Given the description of an element on the screen output the (x, y) to click on. 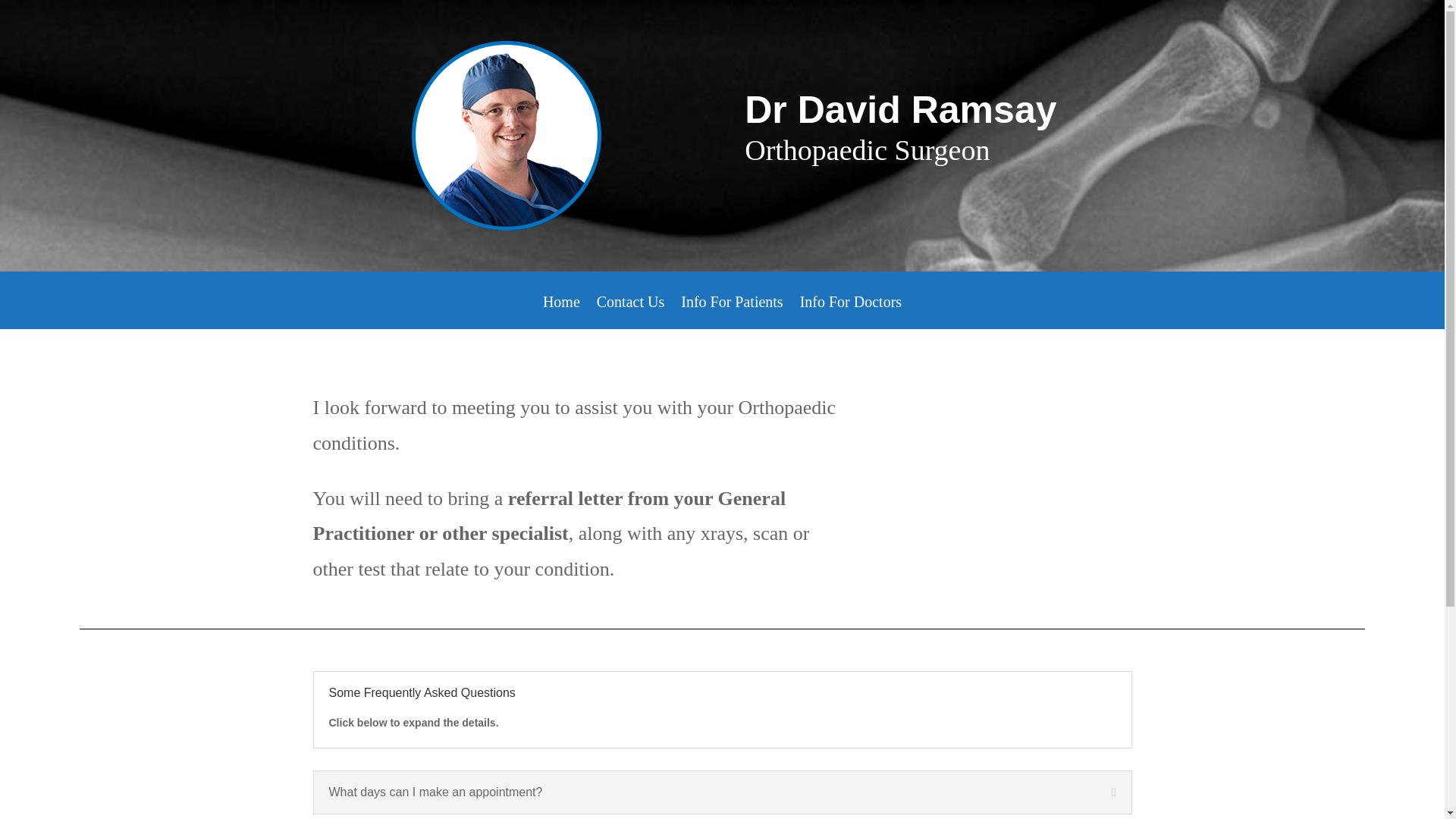
Contact Us (629, 312)
Info For Doctors (850, 312)
Home (561, 312)
Info For Patients (732, 312)
